Given the description of an element on the screen output the (x, y) to click on. 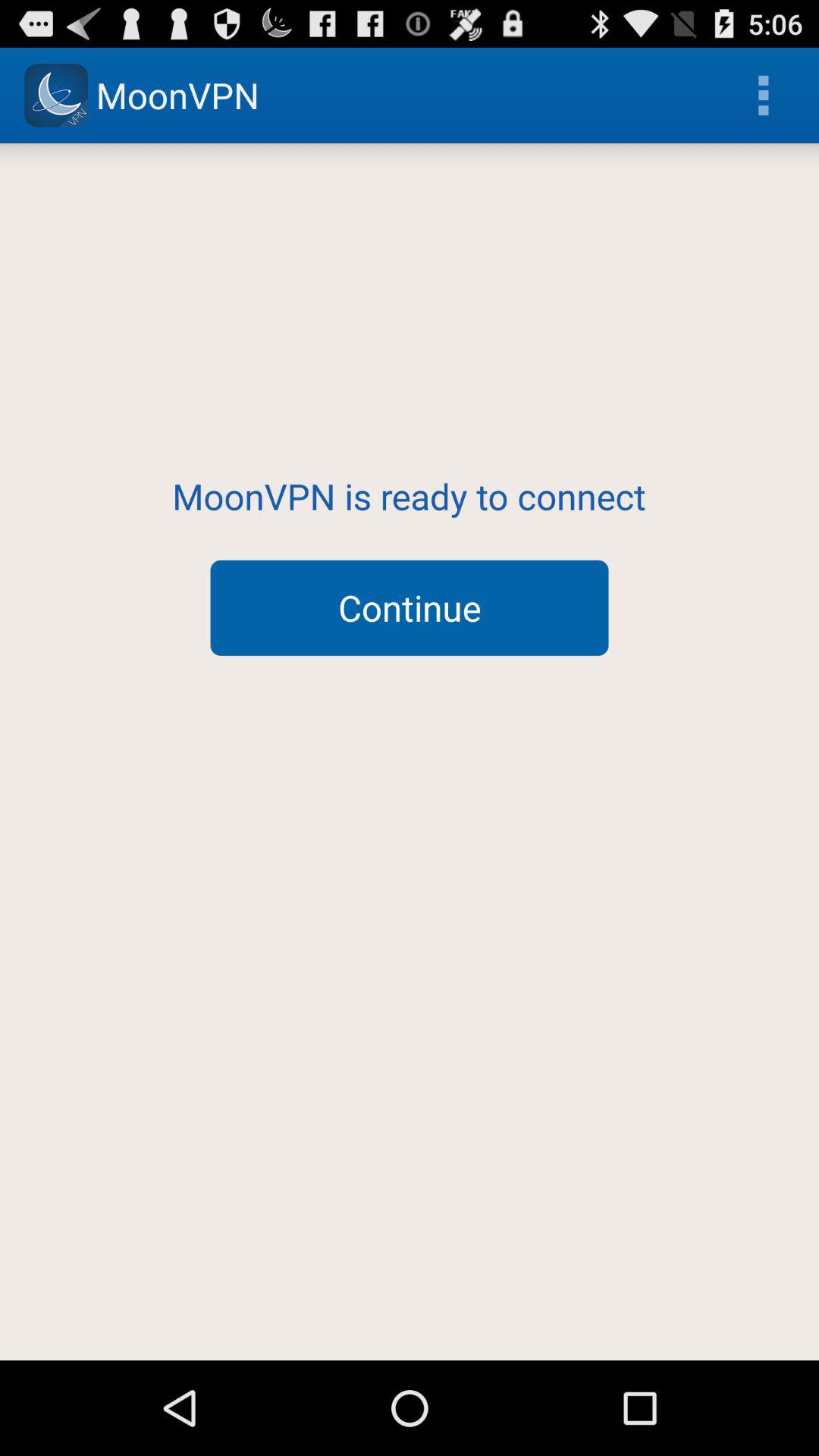
choose icon below the moonvpn is ready item (409, 607)
